Given the description of an element on the screen output the (x, y) to click on. 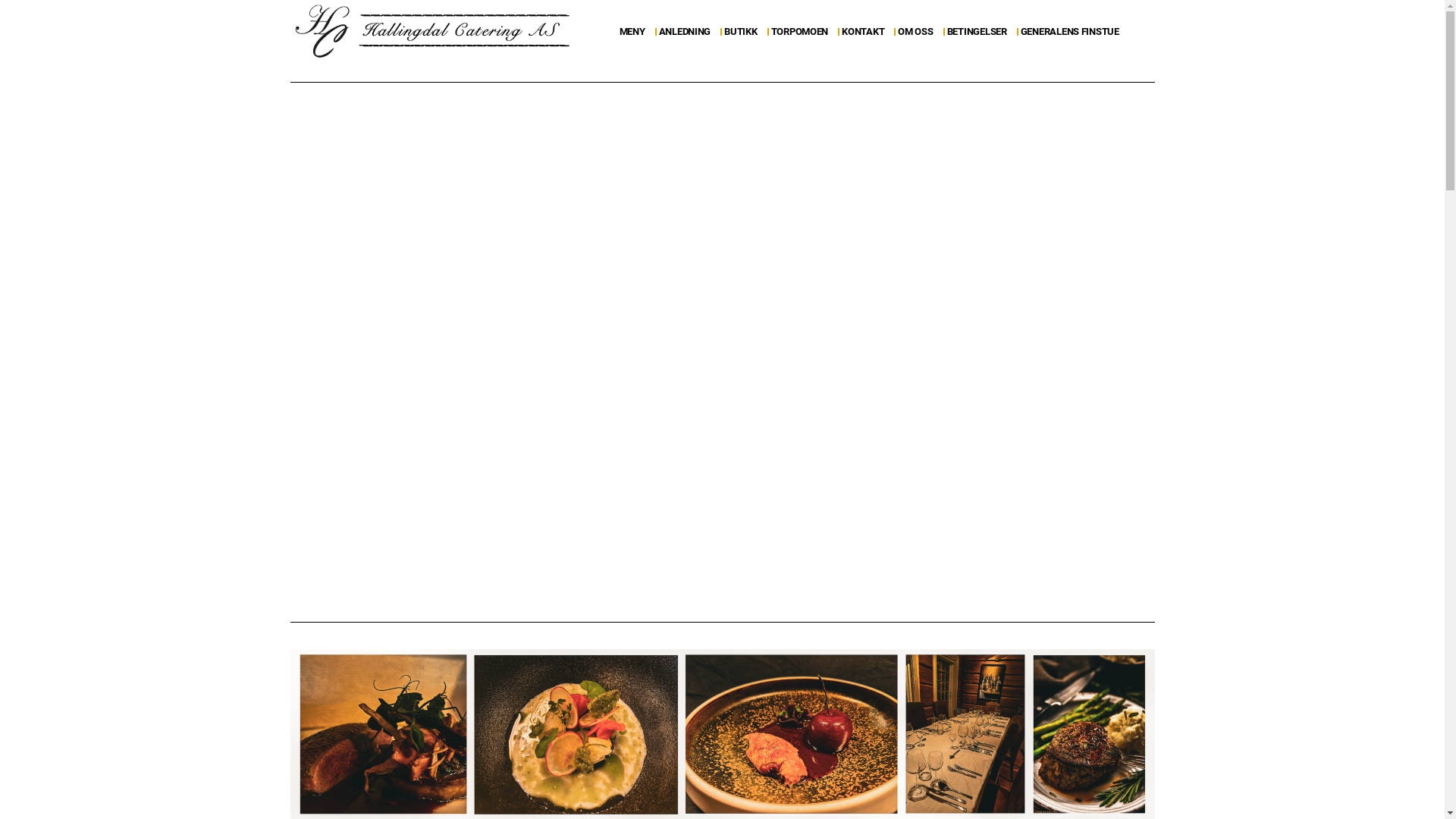
TORPOMOEN Element type: text (803, 31)
BUTIKK Element type: text (744, 31)
OM OSS Element type: text (918, 31)
GENERALENS FINSTUE Element type: text (1069, 31)
MENY Element type: text (635, 31)
KONTAKT Element type: text (866, 31)
BETINGELSER Element type: text (980, 31)
ANLEDNING Element type: text (688, 31)
